Given the description of an element on the screen output the (x, y) to click on. 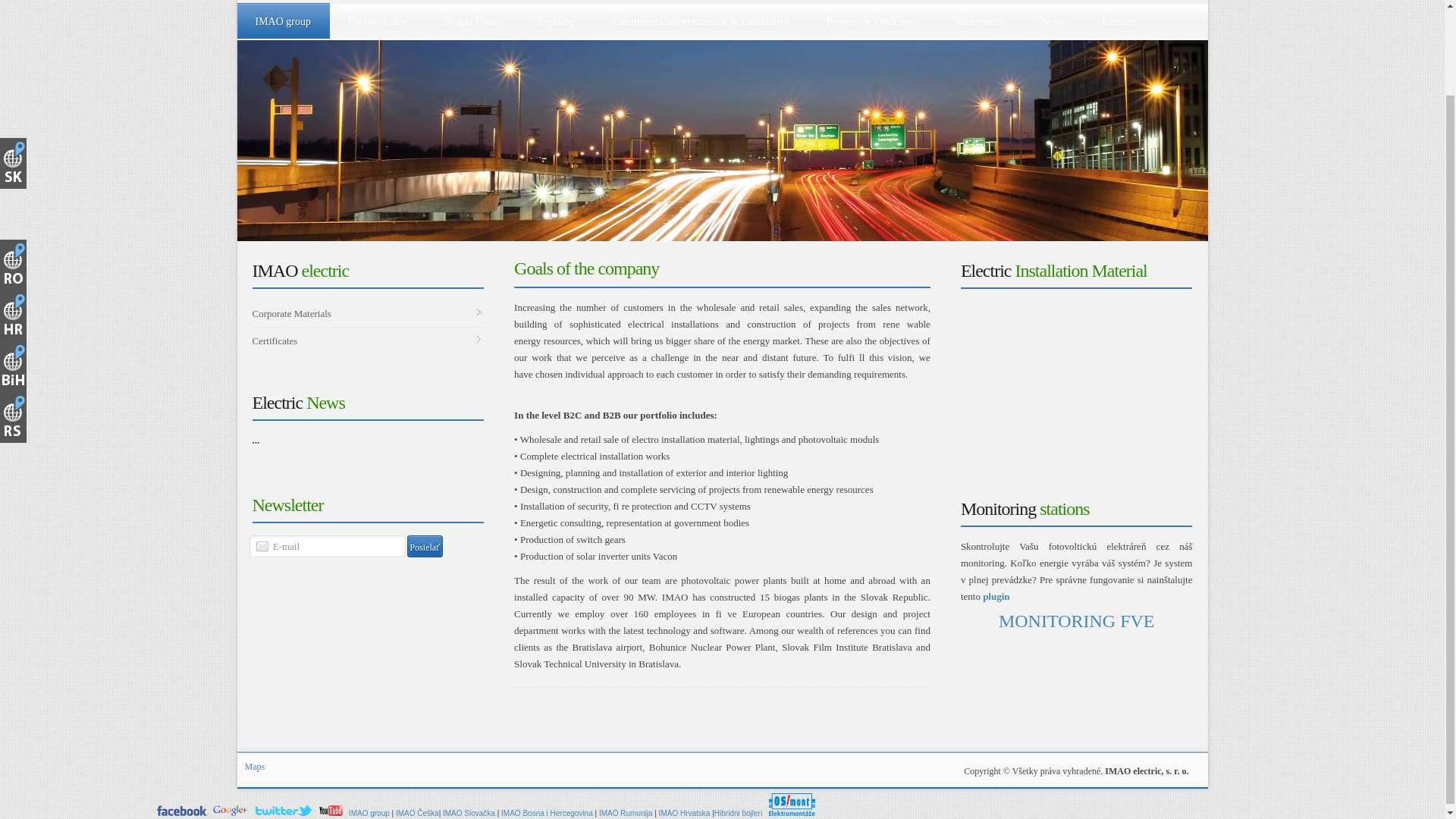
News (1051, 21)
Simple youtube module by JoomShaper.com (1076, 377)
IMAO group (280, 20)
IMAO group (182, 810)
Contact (1117, 21)
Biogas Plants (470, 21)
Goals of the company (586, 268)
Photovoltaics (375, 21)
Certificates (367, 340)
Corporate Materials (367, 313)
E-mail (327, 546)
Goals of the company (586, 268)
Lighting (554, 21)
References (979, 21)
